Given the description of an element on the screen output the (x, y) to click on. 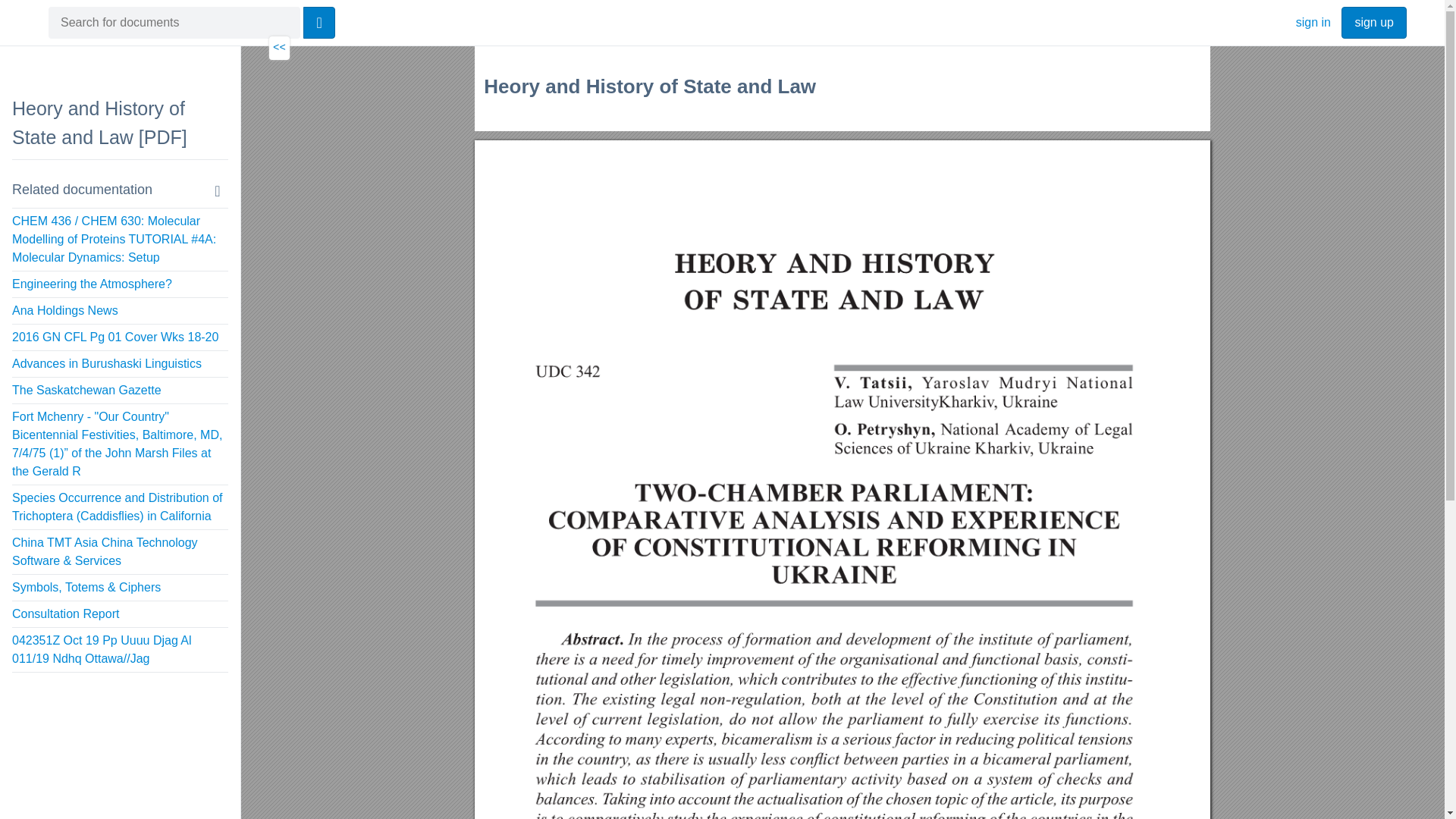
Engineering the Atmosphere? (91, 283)
The Saskatchewan Gazette (86, 390)
Consultation Report (65, 613)
sign up (1373, 22)
sign in (1312, 21)
Ana Holdings News (64, 309)
Advances in Burushaski Linguistics (106, 363)
2016 GN CFL Pg 01 Cover Wks 18-20 (114, 336)
